Given the description of an element on the screen output the (x, y) to click on. 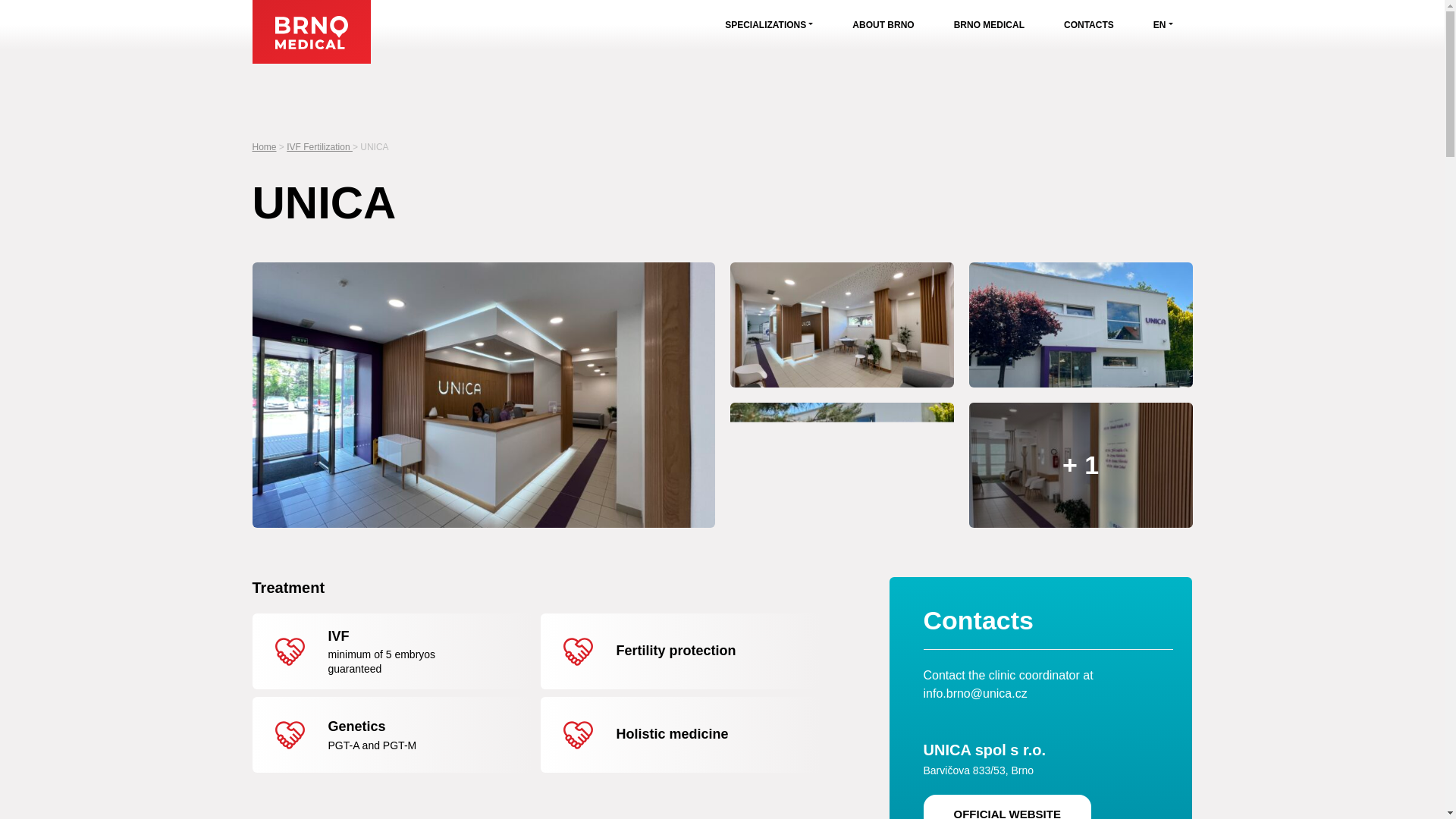
CONTACTS (1088, 24)
EN (1163, 24)
BRNO MEDICAL (988, 24)
IVF Fertilization (319, 146)
OFFICIAL WEBSITE (1006, 806)
ABOUT BRNO (882, 24)
SPECIALIZATIONS (768, 24)
Home (263, 146)
